Given the description of an element on the screen output the (x, y) to click on. 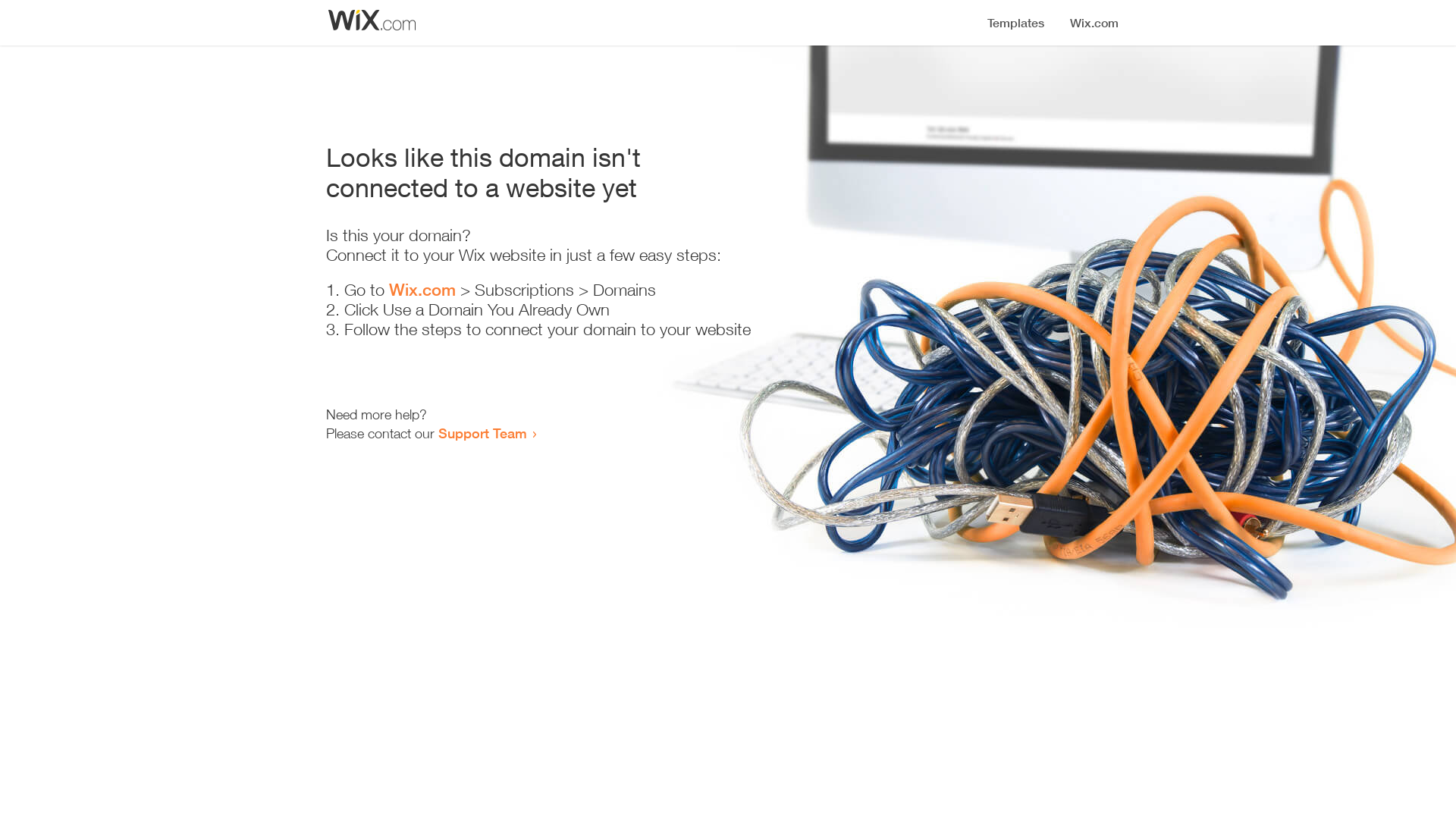
Wix.com Element type: text (422, 289)
Support Team Element type: text (482, 432)
